Given the description of an element on the screen output the (x, y) to click on. 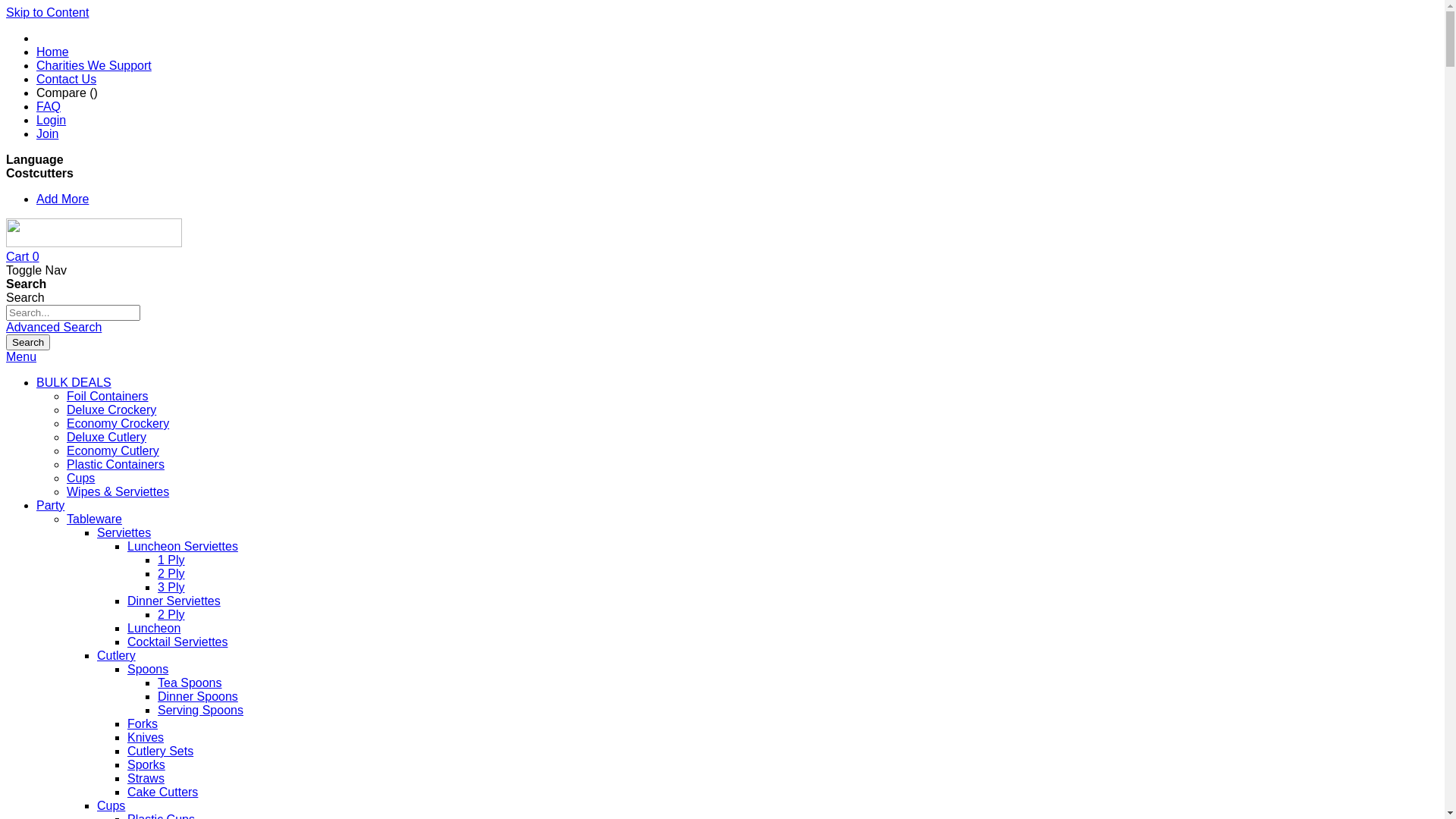
Contact Us Element type: text (66, 78)
FAQ Element type: text (48, 106)
BULK DEALS Element type: text (73, 382)
Party Element type: text (50, 504)
Plastic Containers Element type: text (115, 464)
Tea Spoons Element type: text (189, 682)
Cart 0 Element type: text (22, 256)
Cutlery Sets Element type: text (160, 750)
Cups Element type: text (111, 805)
Wipes & Serviettes Element type: text (117, 491)
1 Ply Element type: text (171, 559)
Home Element type: text (52, 51)
Luncheon Element type: text (153, 627)
3 Ply Element type: text (171, 586)
Straws Element type: text (145, 777)
Deluxe Crockery Element type: text (111, 409)
Dinner Serviettes Element type: text (173, 600)
Spoons Element type: text (147, 668)
Login Element type: text (50, 119)
Cups Element type: text (80, 477)
Search Element type: text (28, 342)
2 Ply Element type: text (171, 573)
Tableware Element type: text (94, 518)
Luncheon Serviettes Element type: text (182, 545)
Serviettes Element type: text (123, 532)
Compare () Element type: text (66, 92)
Charities We Support Element type: text (93, 65)
Cutlery Element type: text (116, 655)
Join Element type: text (47, 133)
Menu Element type: text (21, 356)
Forks Element type: text (142, 723)
Deluxe Cutlery Element type: text (106, 436)
Knives Element type: text (145, 737)
Sporks Element type: text (146, 764)
2 Ply Element type: text (171, 614)
Economy Cutlery Element type: text (112, 450)
Add More Element type: text (62, 198)
Economy Crockery Element type: text (117, 423)
Advanced Search Element type: text (53, 326)
Dinner Spoons Element type: text (197, 696)
Skip to Content Element type: text (47, 12)
Foil Containers Element type: text (107, 395)
Cocktail Serviettes Element type: text (177, 641)
Serving Spoons Element type: text (200, 709)
Cake Cutters Element type: text (162, 791)
